Given the description of an element on the screen output the (x, y) to click on. 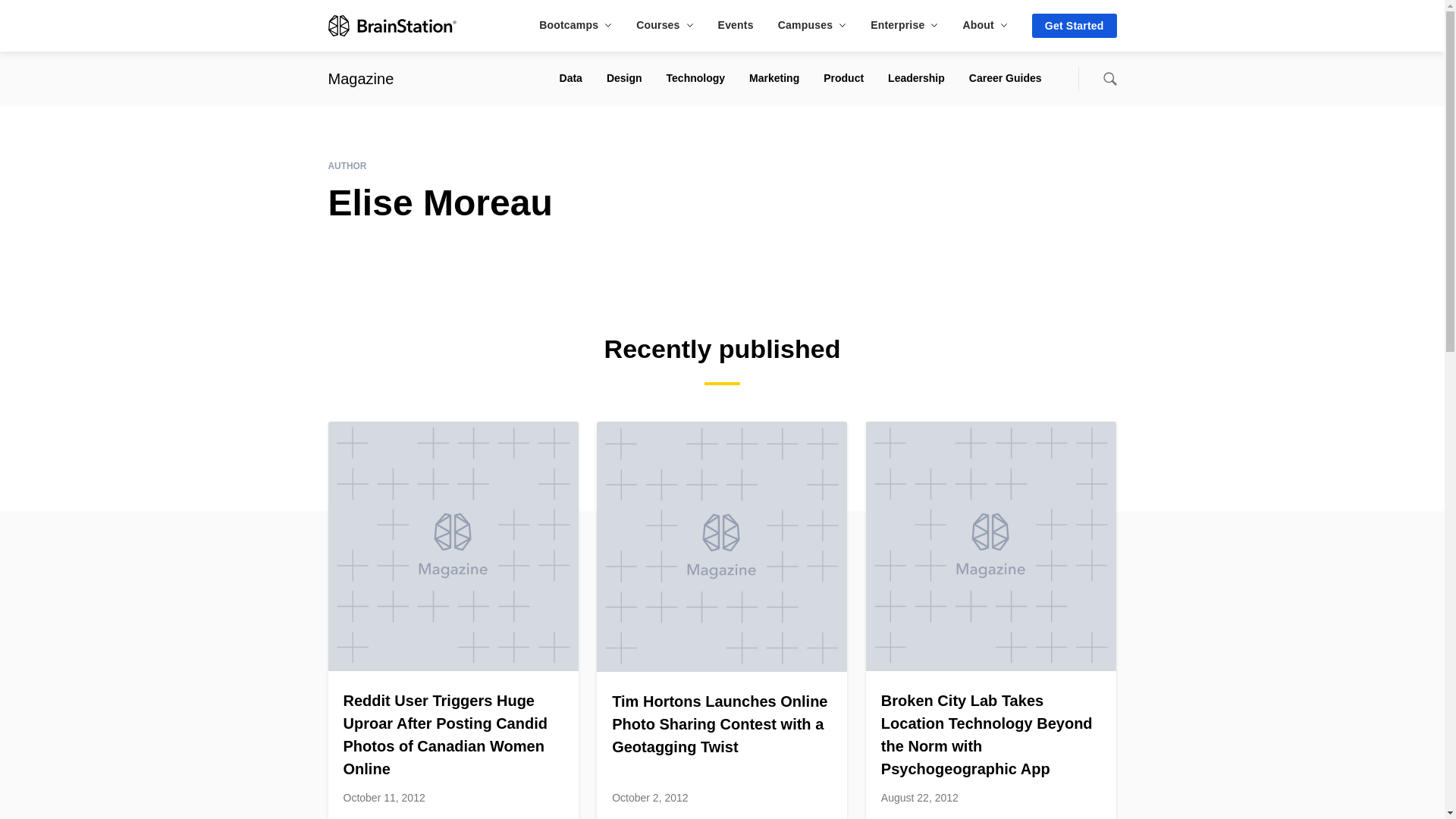
Courses (664, 24)
Enterprise (903, 24)
Events (735, 24)
Search (1109, 78)
Bootcamps (574, 24)
Campuses (811, 24)
BrainStation Magazine (360, 78)
